Given the description of an element on the screen output the (x, y) to click on. 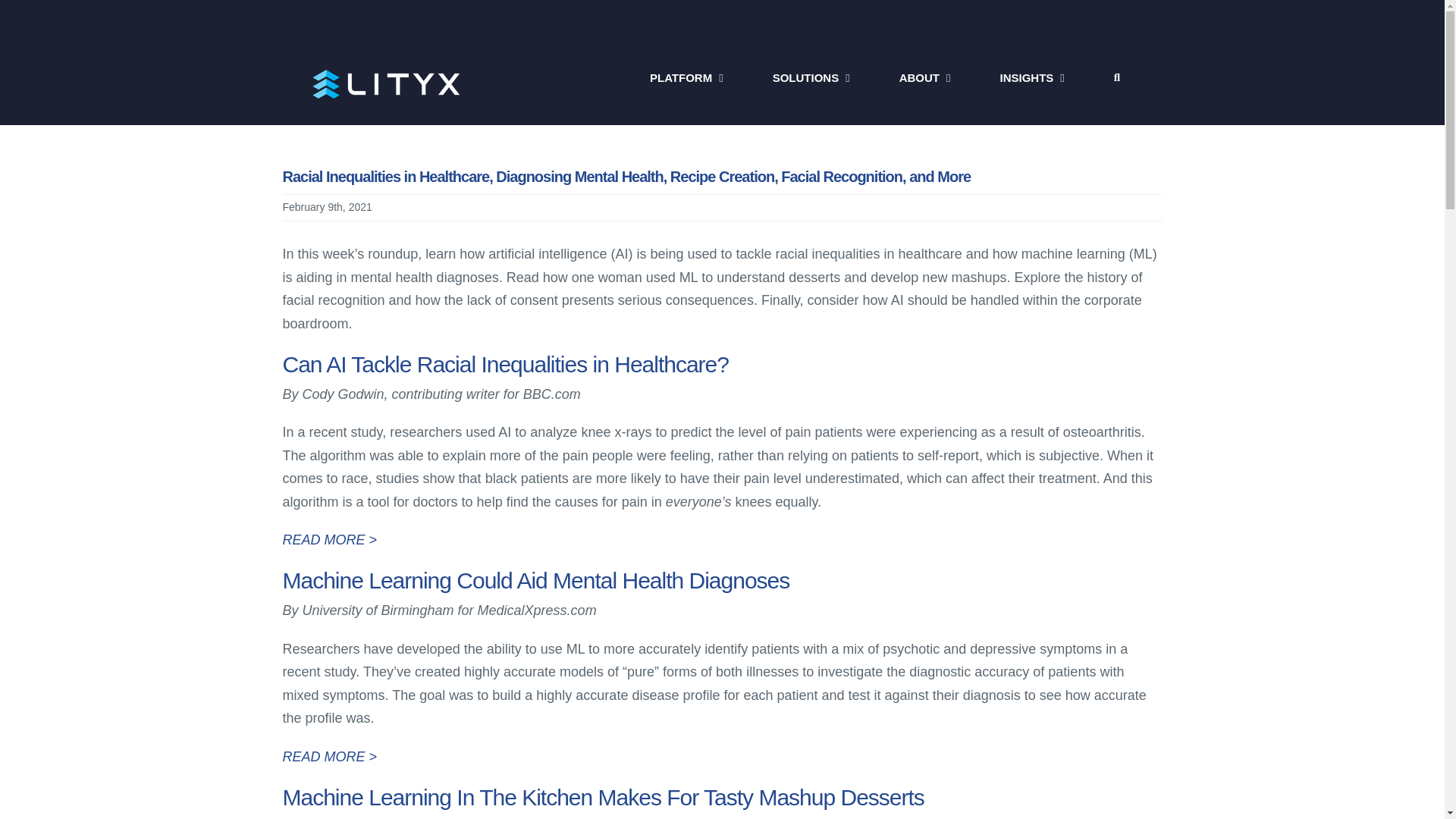
PLATFORM (686, 77)
INSIGHTS (1031, 77)
SOLUTIONS (811, 77)
